Given the description of an element on the screen output the (x, y) to click on. 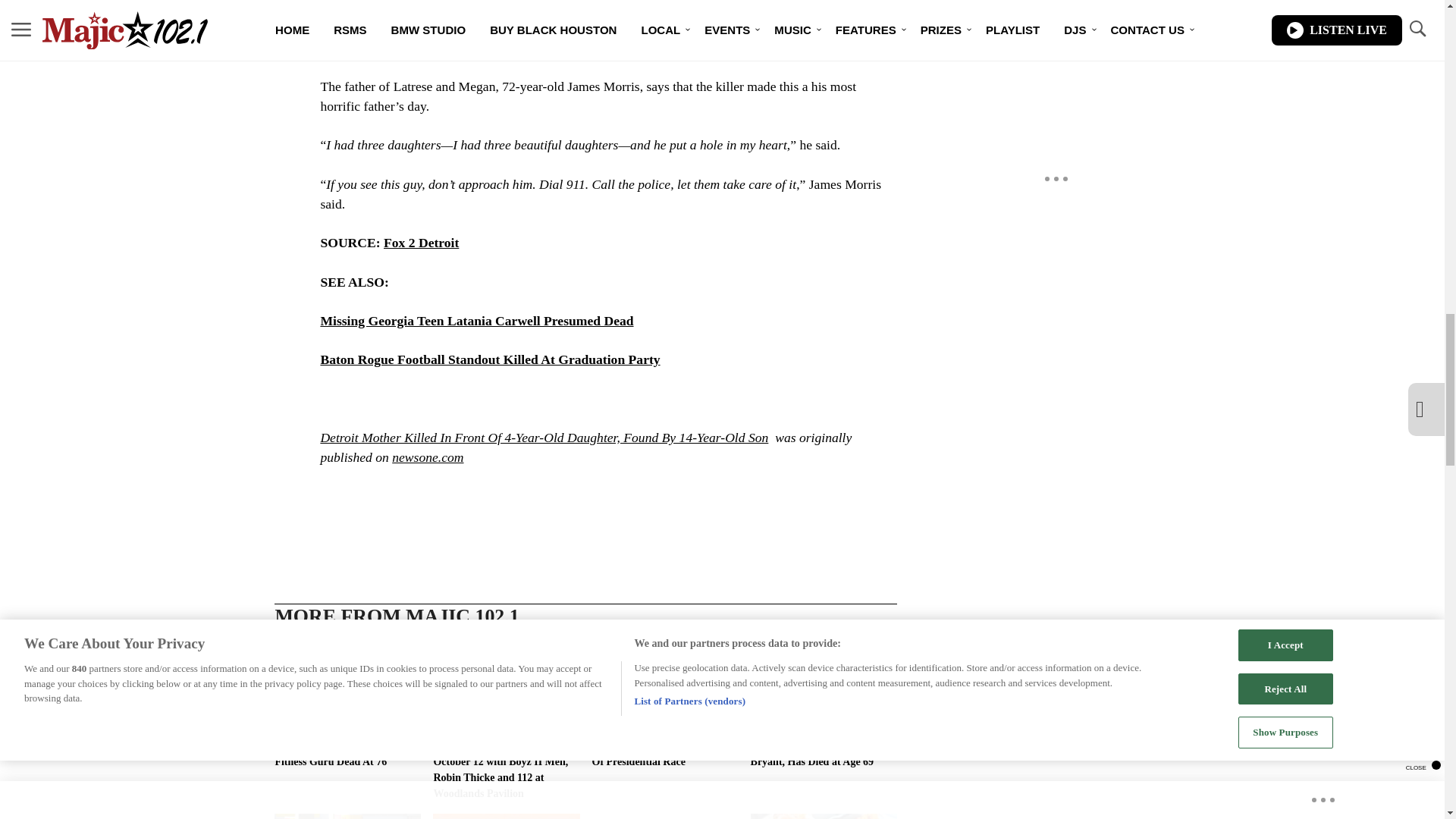
Vuukle Sharebar Widget (585, 503)
